Given the description of an element on the screen output the (x, y) to click on. 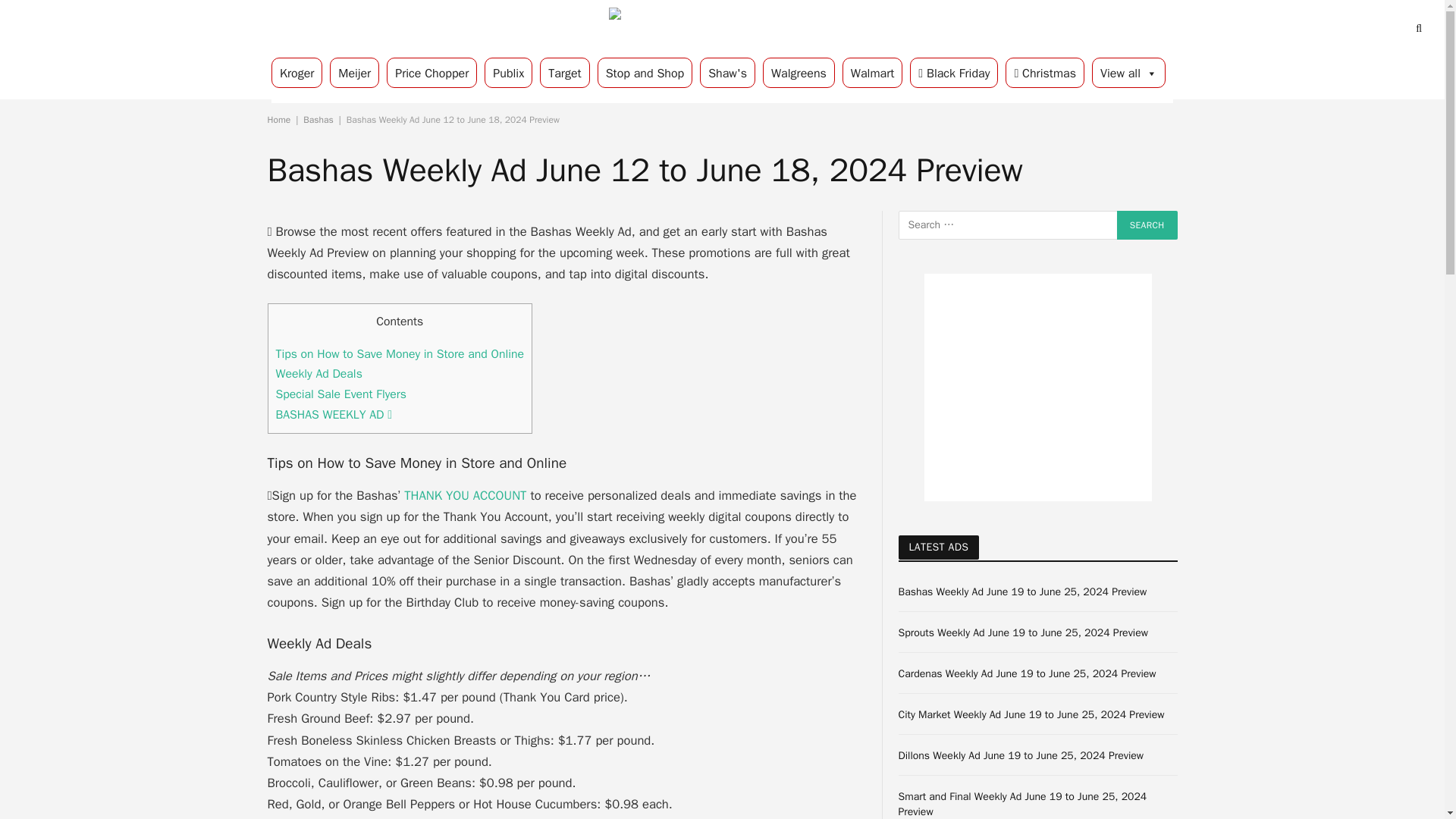
Weekly Ad Shop (721, 28)
Search (1146, 224)
Search (1146, 224)
